Given the description of an element on the screen output the (x, y) to click on. 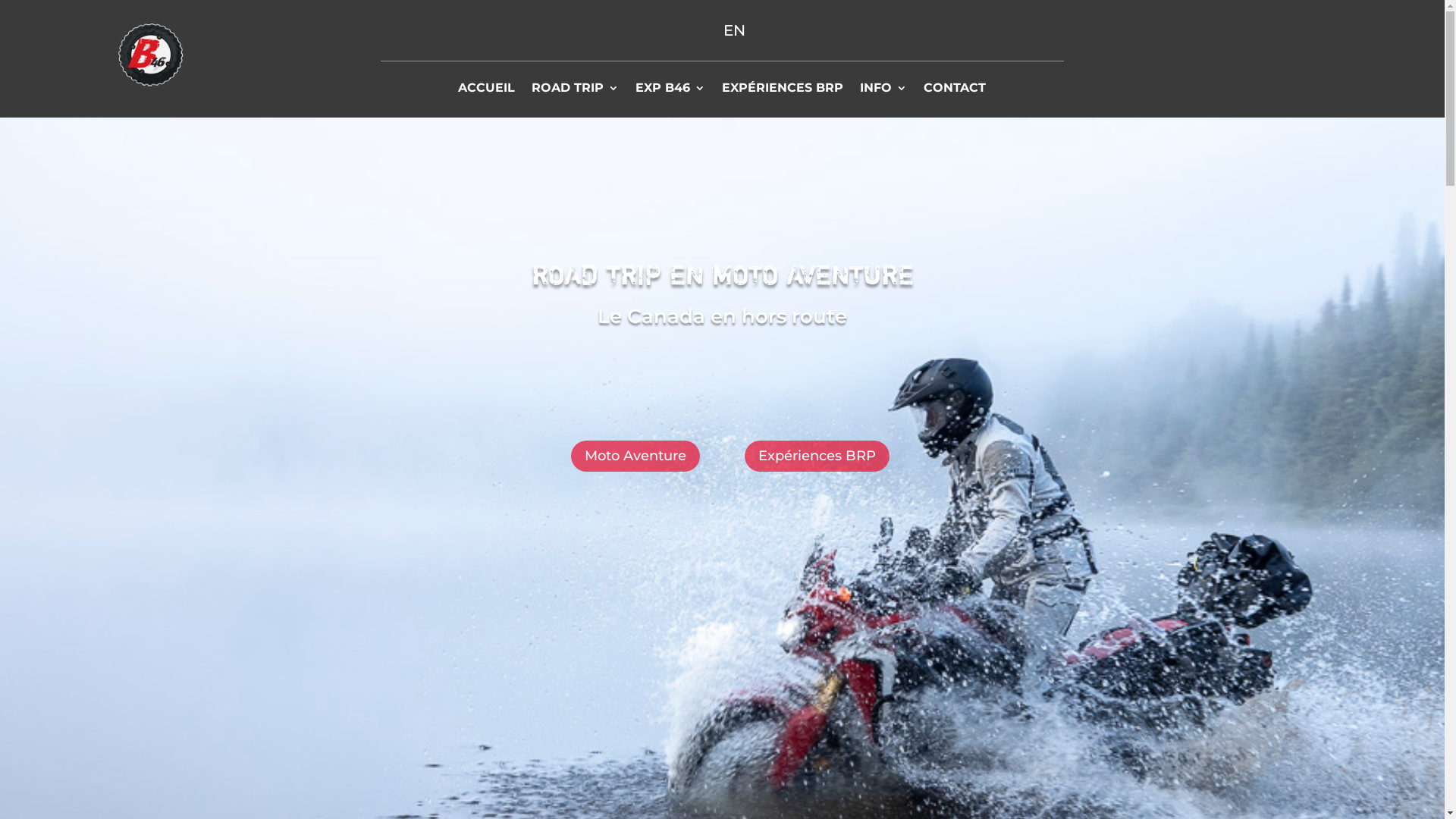
ROAD TRIP Element type: text (574, 90)
CONTACT Element type: text (954, 90)
EN Element type: text (734, 30)
Moto Aventure Element type: text (635, 455)
INFO Element type: text (882, 90)
EXP B46 Element type: text (670, 90)
ACCUEIL Element type: text (486, 90)
logo_B46 Element type: hover (150, 54)
